Given the description of an element on the screen output the (x, y) to click on. 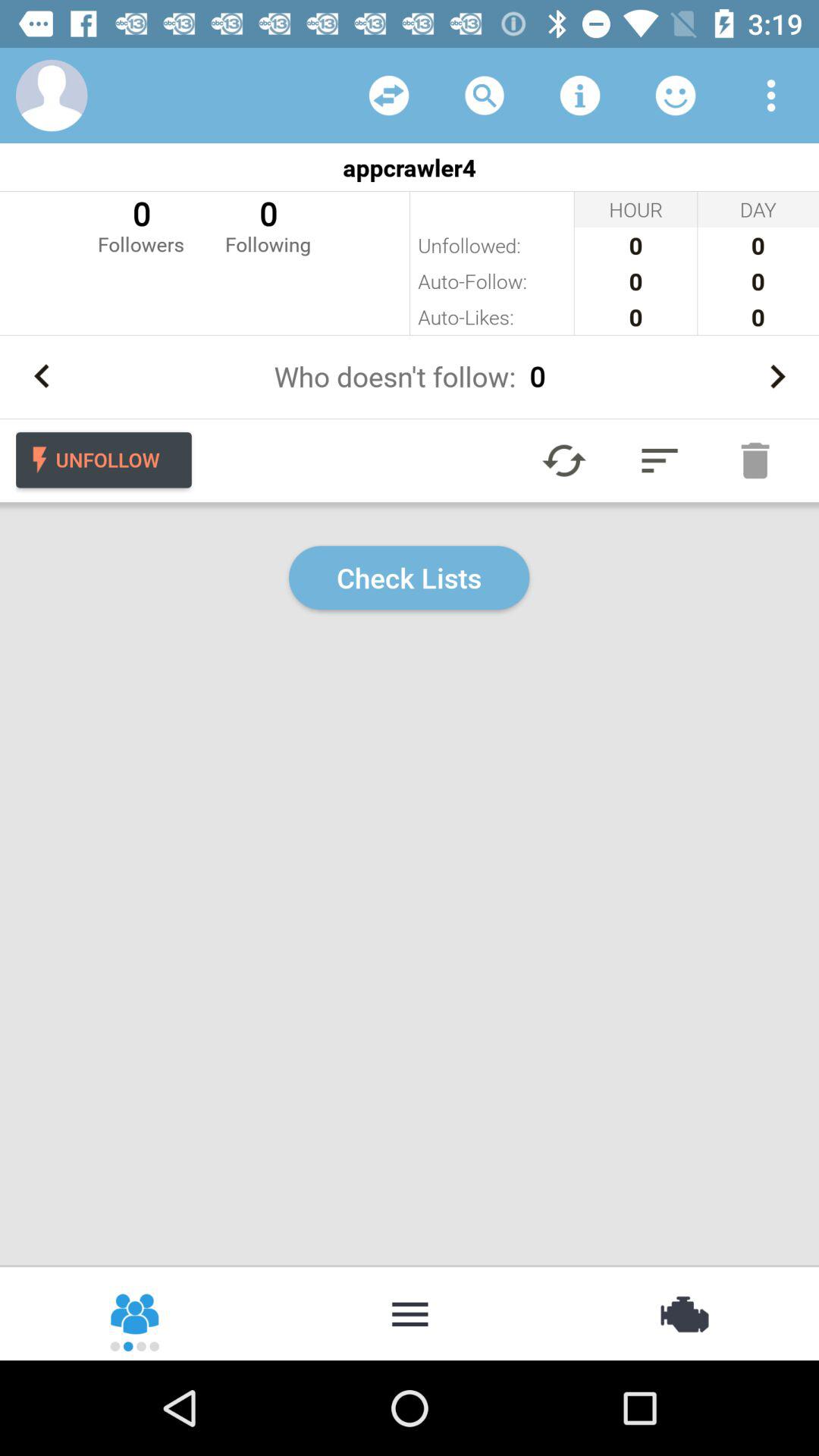
scroll until the unfollow item (103, 459)
